Given the description of an element on the screen output the (x, y) to click on. 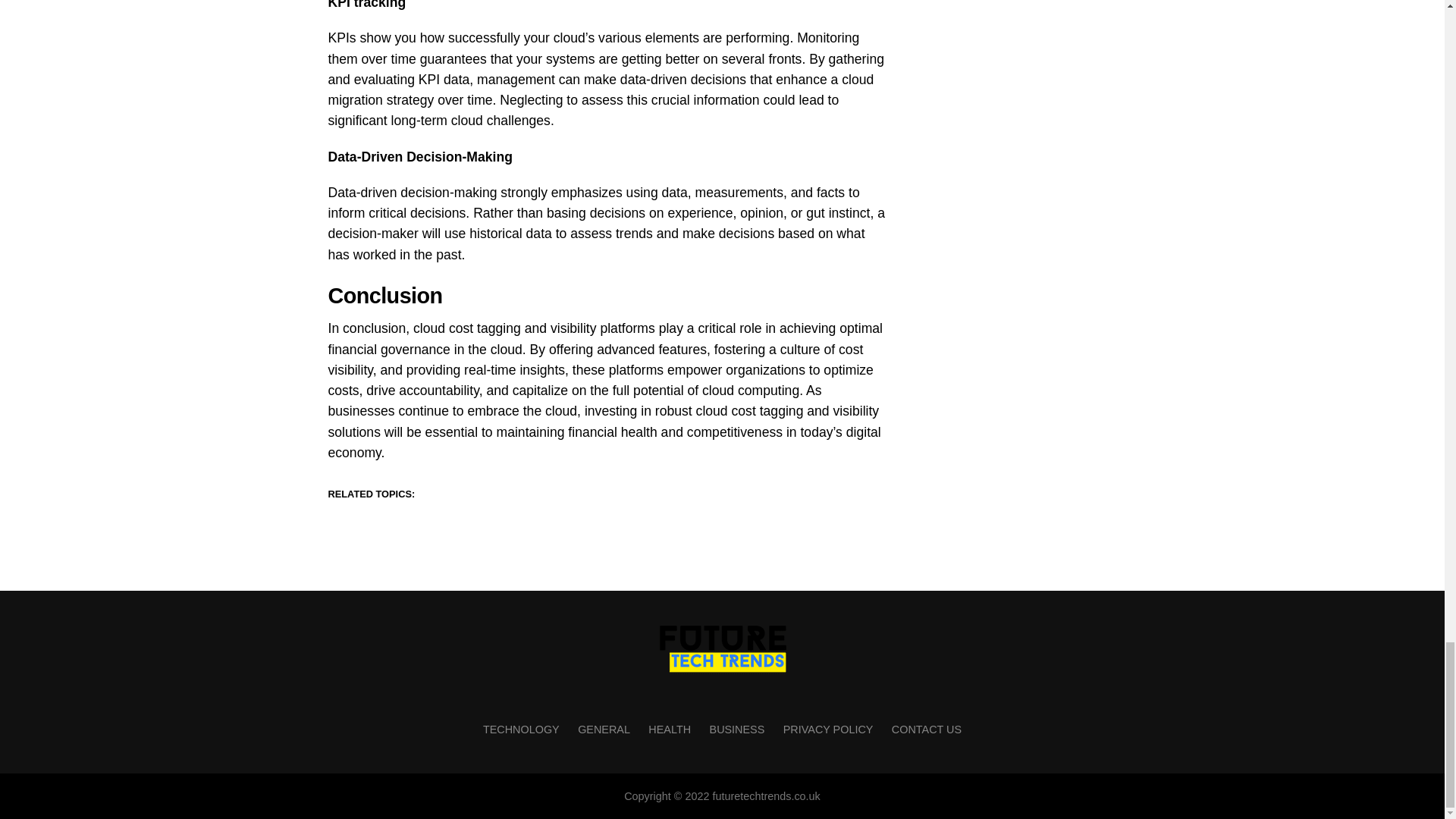
GENERAL (604, 729)
HEALTH (668, 729)
BUSINESS (737, 729)
TECHNOLOGY (521, 729)
PRIVACY POLICY (828, 729)
CONTACT US (925, 729)
